Given the description of an element on the screen output the (x, y) to click on. 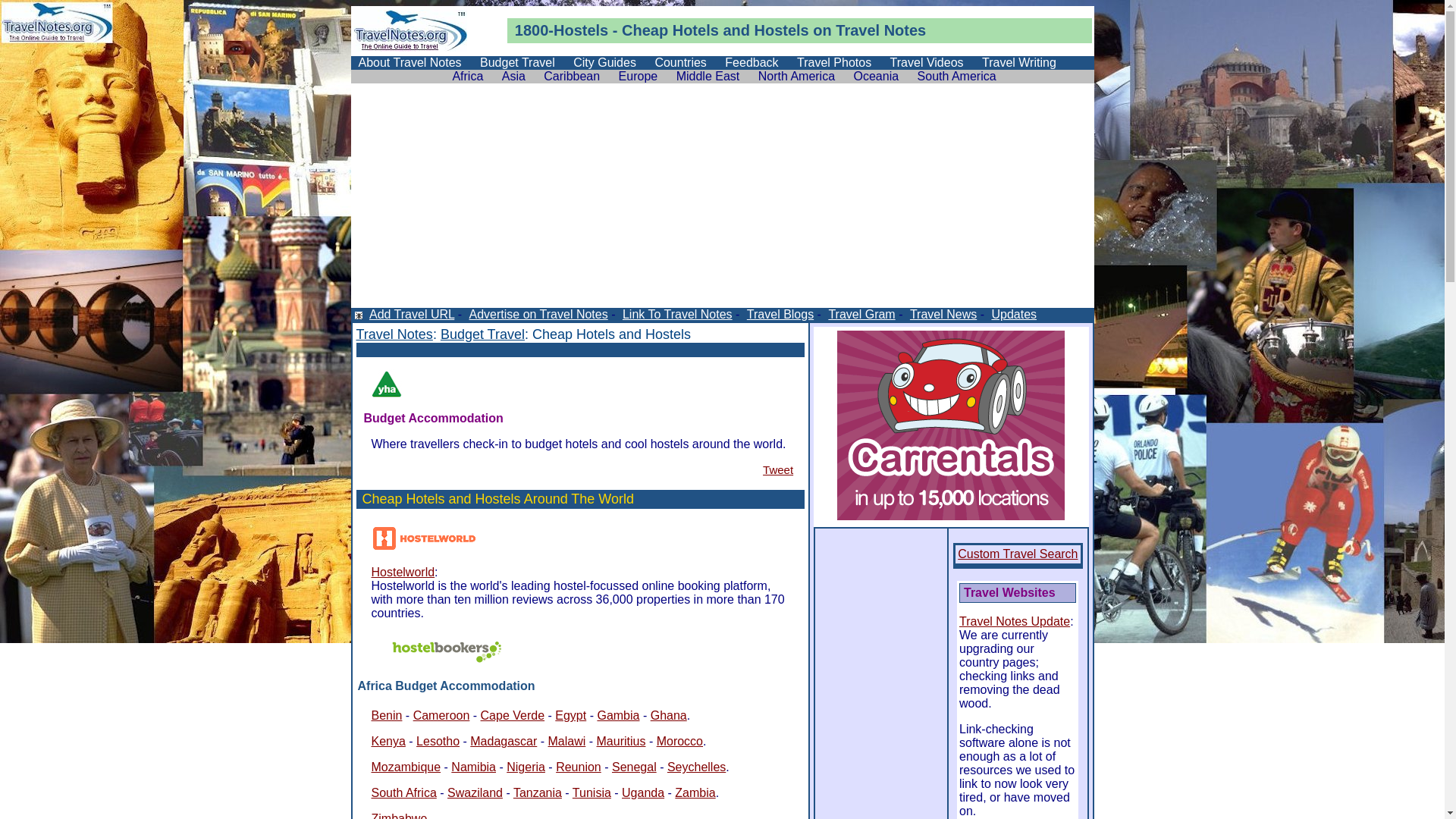
Mozambique Element type: text (406, 766)
Asia Element type: text (513, 75)
Seychelles Element type: text (696, 766)
Uganda Element type: text (642, 792)
Oceania Element type: text (876, 75)
City Guides Element type: text (604, 62)
Ghana Element type: text (668, 715)
South Africa Element type: text (403, 792)
North America Element type: text (796, 75)
Travel Writing Element type: text (1018, 62)
Travel Gram Element type: text (859, 313)
Kenya Element type: text (388, 740)
Countries Element type: text (679, 62)
Mauritius Element type: text (621, 740)
Malawi Element type: text (567, 740)
Senegal Element type: text (633, 766)
South America Element type: text (957, 75)
Cheap Hotels Element type: text (669, 29)
Morocco Element type: text (679, 740)
Zambia Element type: text (694, 792)
Add Travel URL Element type: text (410, 313)
Budget Travel Element type: text (517, 62)
Updates Element type: text (1012, 313)
Budget Travel Element type: text (482, 334)
Travel Notes Element type: text (394, 334)
About Travel Notes Element type: text (409, 62)
Gambia Element type: text (617, 715)
Advertise on Travel Notes Element type: text (537, 313)
Tunisia Element type: text (591, 792)
1800-Hostels Element type: text (561, 29)
Travel News Element type: text (941, 313)
Tanzania Element type: text (537, 792)
Madagascar Element type: text (503, 740)
Feedback Element type: text (751, 62)
Advertisement Element type: hover (721, 201)
Hostelworld Element type: text (403, 571)
Lesotho Element type: text (437, 740)
Benin Element type: text (386, 715)
Namibia Element type: text (473, 766)
Tweet Element type: text (777, 469)
Cape Verde Element type: text (512, 715)
Swaziland Element type: text (474, 792)
Africa Element type: text (467, 75)
Nigeria Element type: text (525, 766)
Advertisement Element type: hover (533, 348)
Travel Photos Element type: text (833, 62)
Link To Travel Notes Element type: text (676, 313)
Middle East Element type: text (707, 75)
Hostels Element type: text (780, 29)
Custom Travel Search Element type: text (1017, 553)
Travel Blogs Element type: text (778, 313)
Reunion Element type: text (578, 766)
Egypt Element type: text (570, 715)
Cameroon Element type: text (441, 715)
Travel Notes Element type: text (880, 29)
Europe Element type: text (638, 75)
Caribbean Element type: text (571, 75)
Travel Videos Element type: text (926, 62)
